Given the description of an element on the screen output the (x, y) to click on. 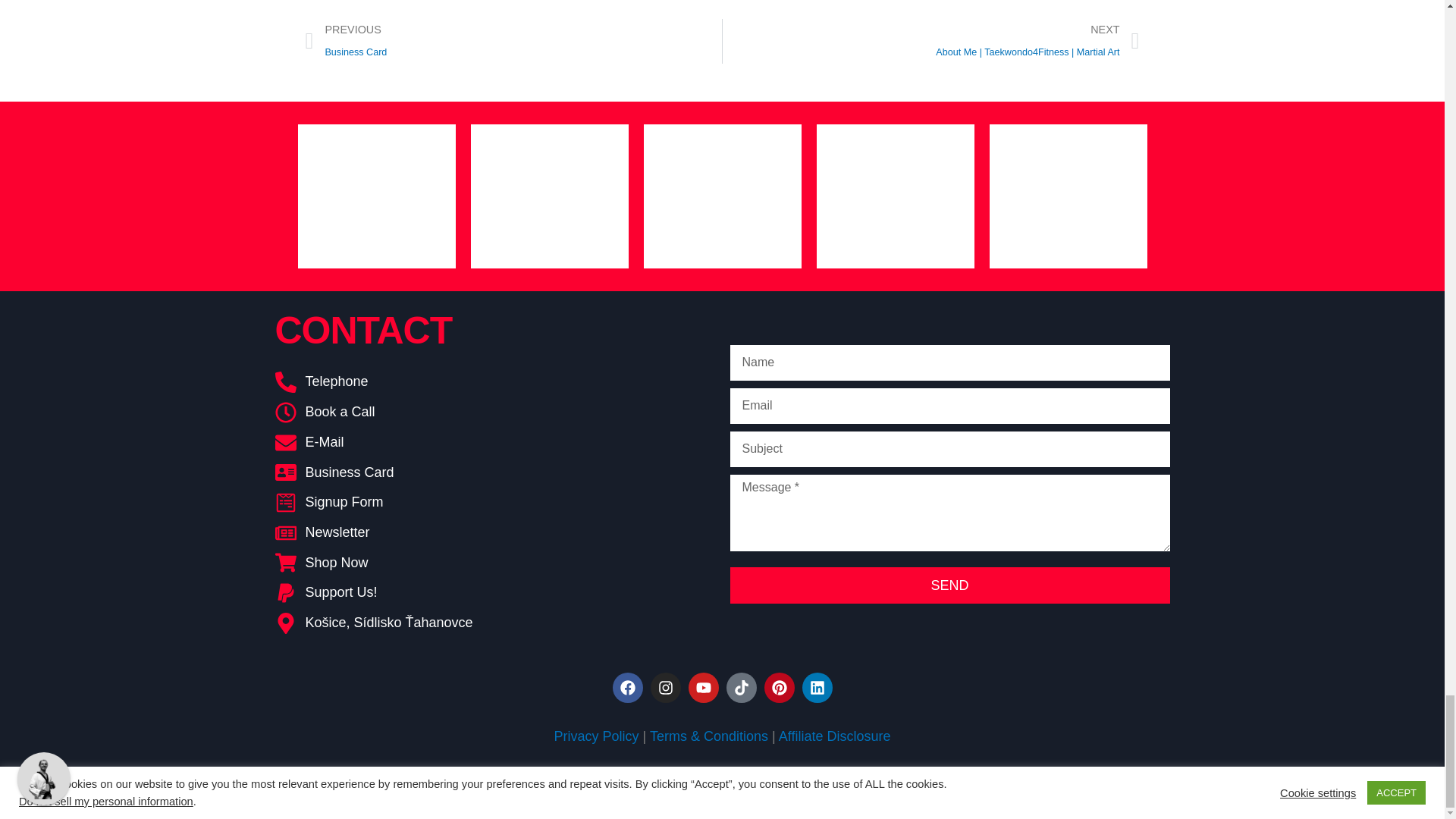
Privacy Policy (596, 735)
Affiliate Disclosure (834, 735)
